Given the description of an element on the screen output the (x, y) to click on. 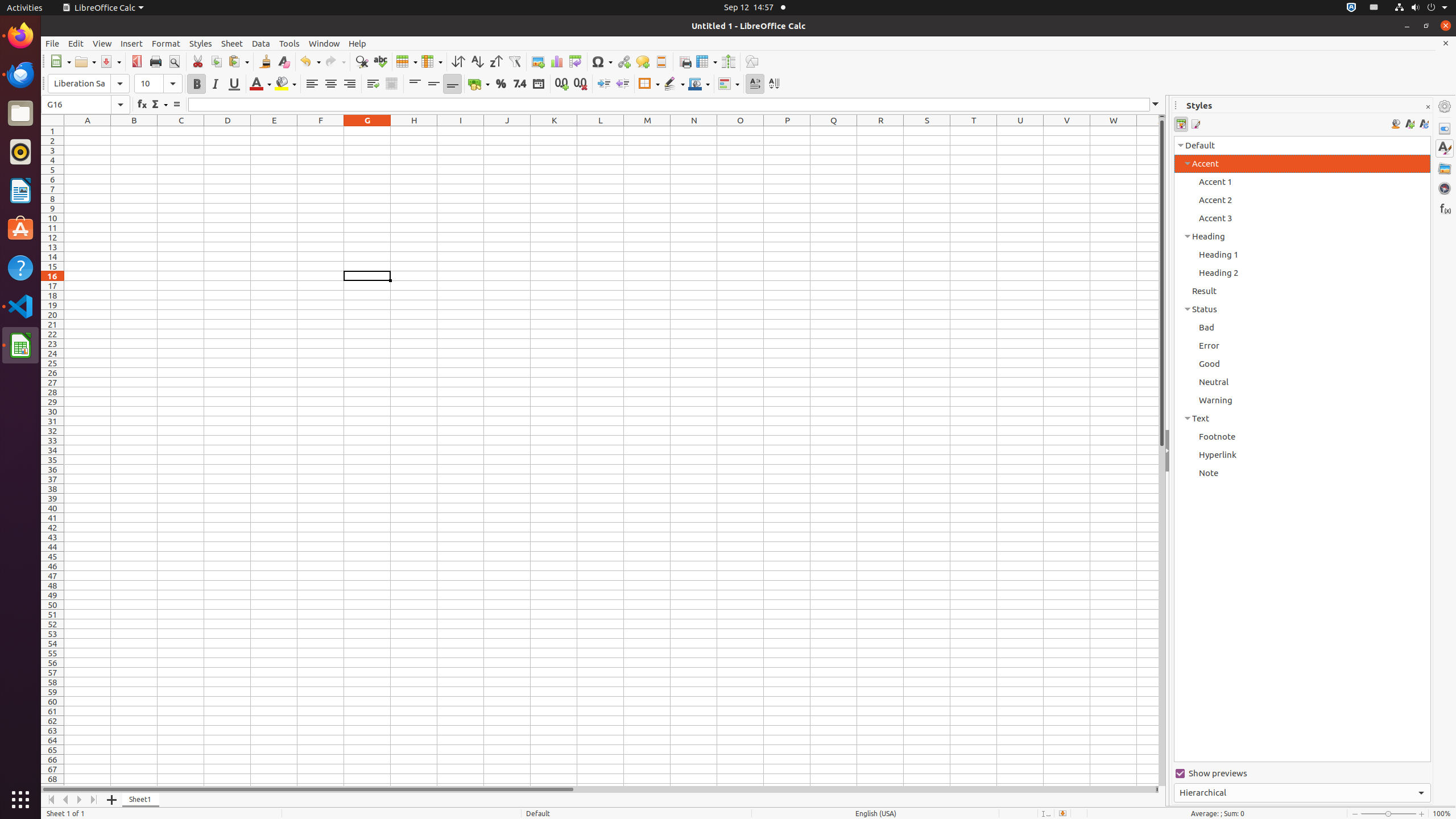
Split Window Element type: push-button (727, 61)
I1 Element type: table-cell (460, 130)
N1 Element type: table-cell (693, 130)
K1 Element type: table-cell (553, 130)
Align Center Element type: push-button (330, 83)
